Given the description of an element on the screen output the (x, y) to click on. 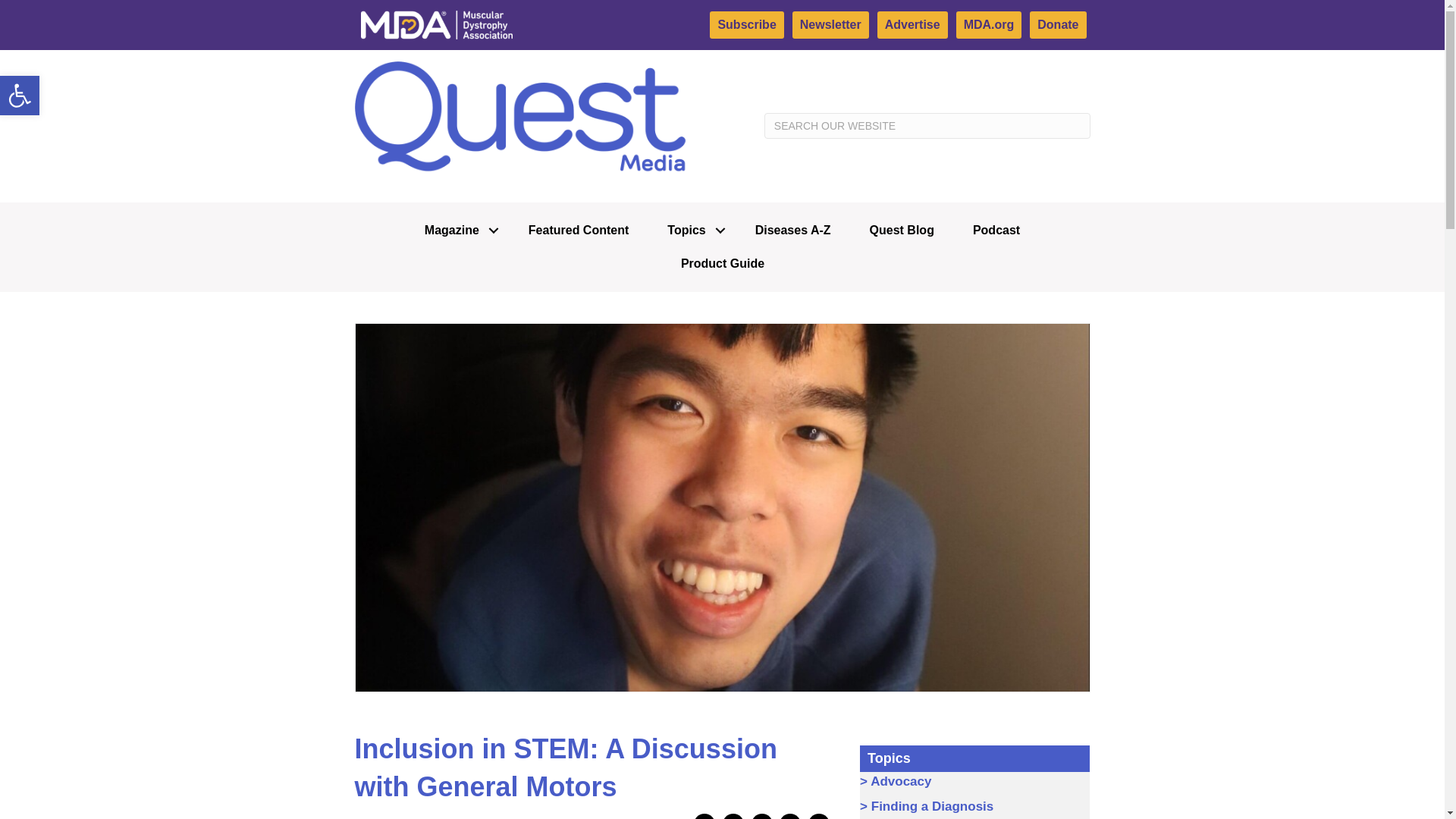
MDA.org (989, 24)
Featured Content (19, 95)
Newsletter (578, 230)
Advertise (830, 24)
Accessibility Tools (912, 24)
Magazine (19, 95)
Topics (457, 230)
Subscribe (691, 230)
Diseases A-Z (746, 24)
Accessibility Tools (793, 230)
Donate (19, 95)
